Given the description of an element on the screen output the (x, y) to click on. 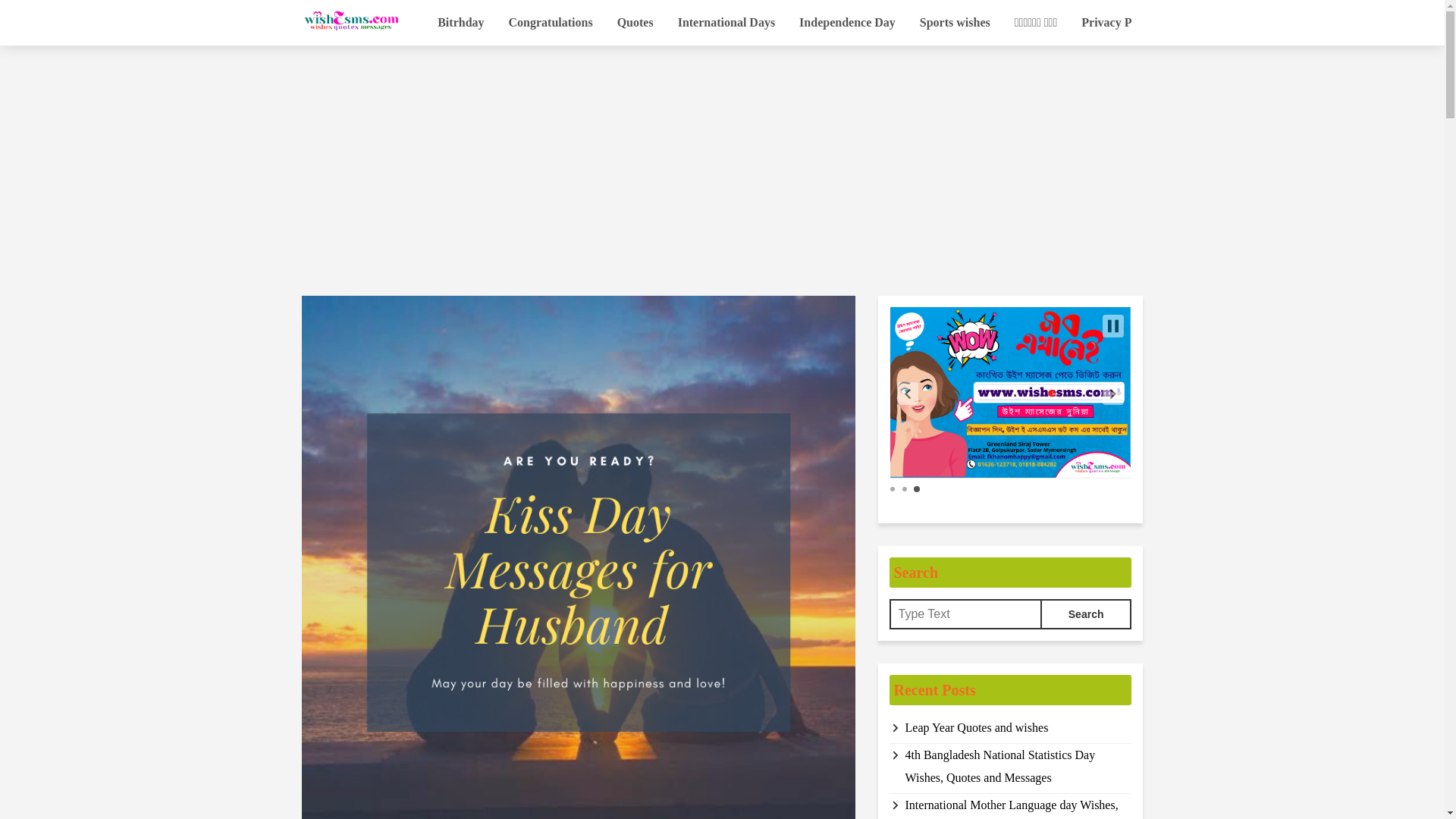
Congratulations (550, 22)
Bitrhday (460, 22)
Quotes (635, 22)
Independence Day (847, 22)
International Days (726, 22)
Privacy P (1106, 22)
Search (1086, 613)
Sports wishes (954, 22)
Search (1086, 613)
